Given the description of an element on the screen output the (x, y) to click on. 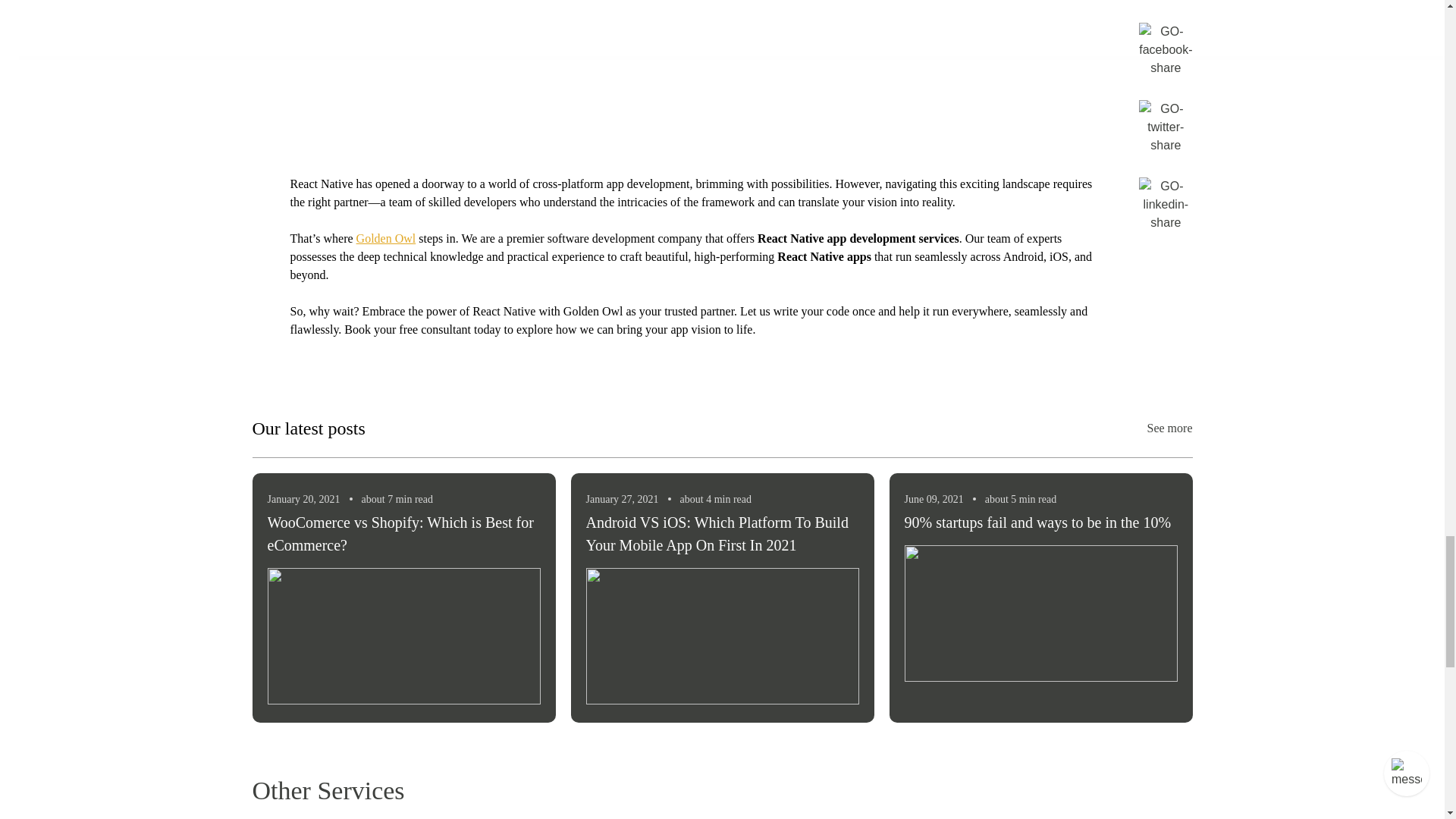
Golden Owl (386, 237)
See more (1169, 428)
